Given the description of an element on the screen output the (x, y) to click on. 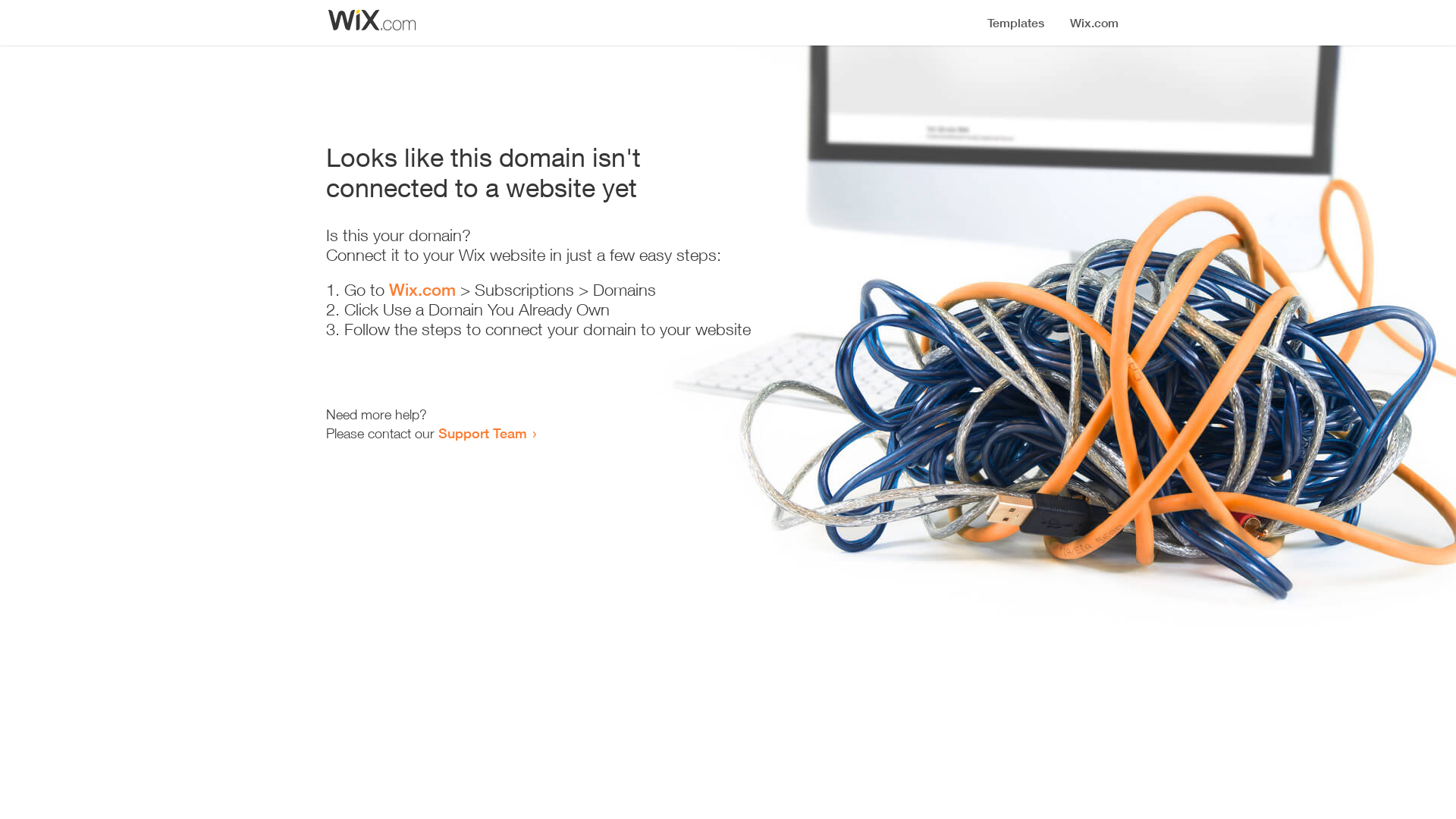
Support Team Element type: text (482, 432)
Wix.com Element type: text (422, 289)
